Given the description of an element on the screen output the (x, y) to click on. 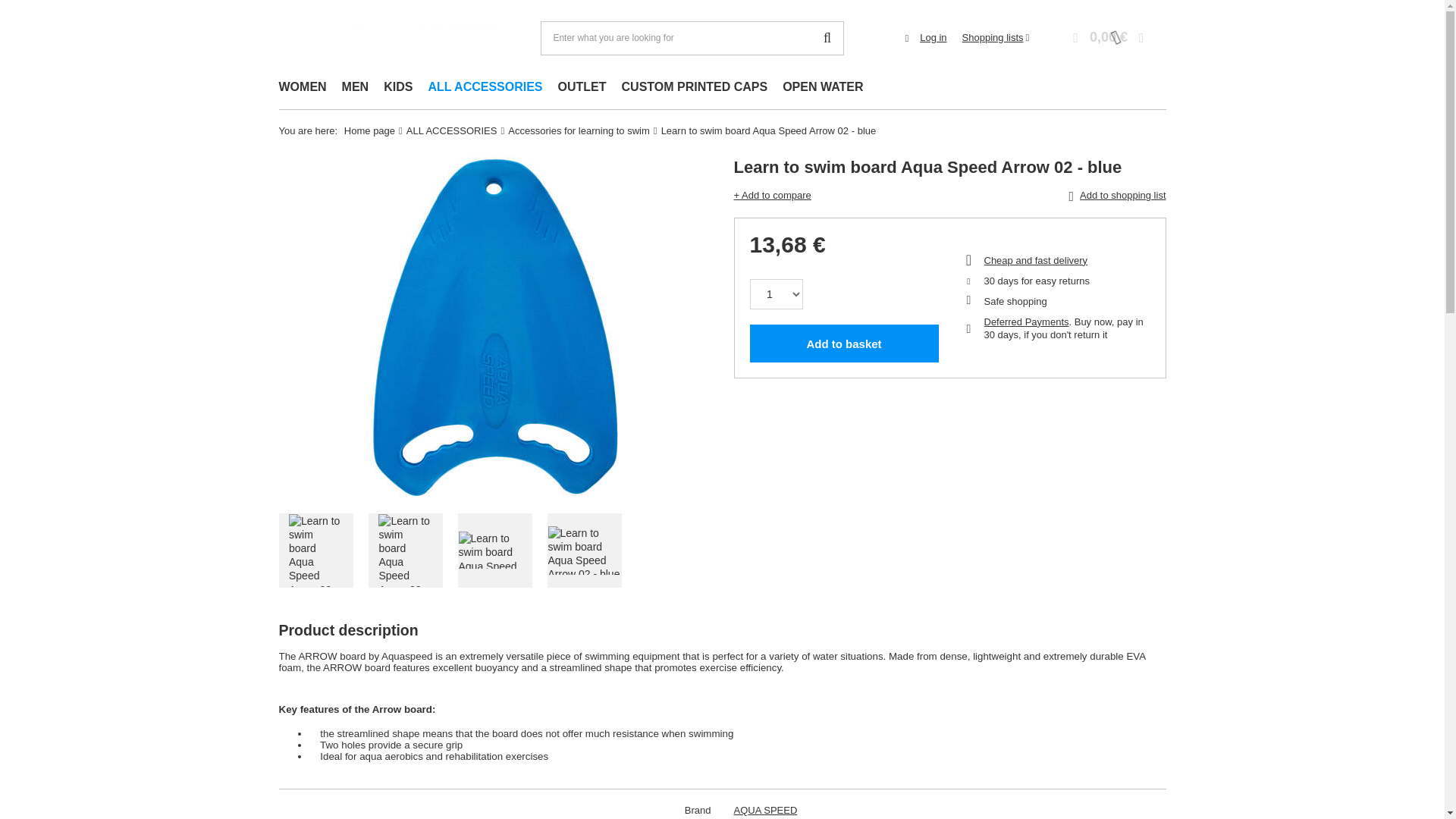
WOMEN (302, 88)
WOMEN (302, 88)
MEN (355, 88)
Log in (933, 38)
Shopping lists (995, 37)
MEN (355, 88)
